Given the description of an element on the screen output the (x, y) to click on. 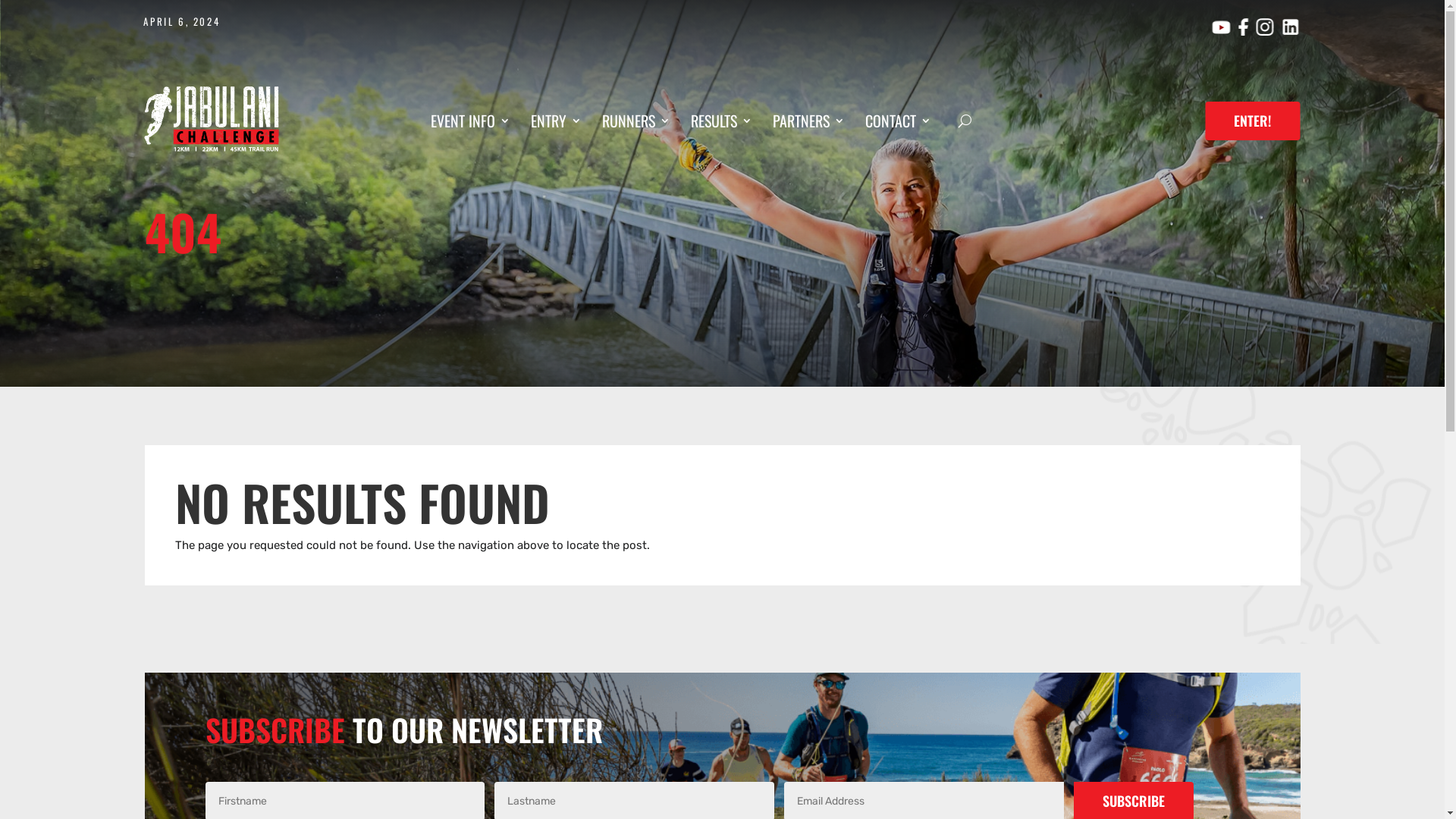
RUNNERS Element type: text (636, 123)
ENTRY Element type: text (555, 123)
RESULTS Element type: text (721, 123)
CONTACT Element type: text (898, 123)
Jabulani Challenge Element type: hover (211, 118)
EVENT INFO Element type: text (470, 123)
ENTER! Element type: text (1251, 120)
PARTNERS Element type: text (808, 123)
